Given the description of an element on the screen output the (x, y) to click on. 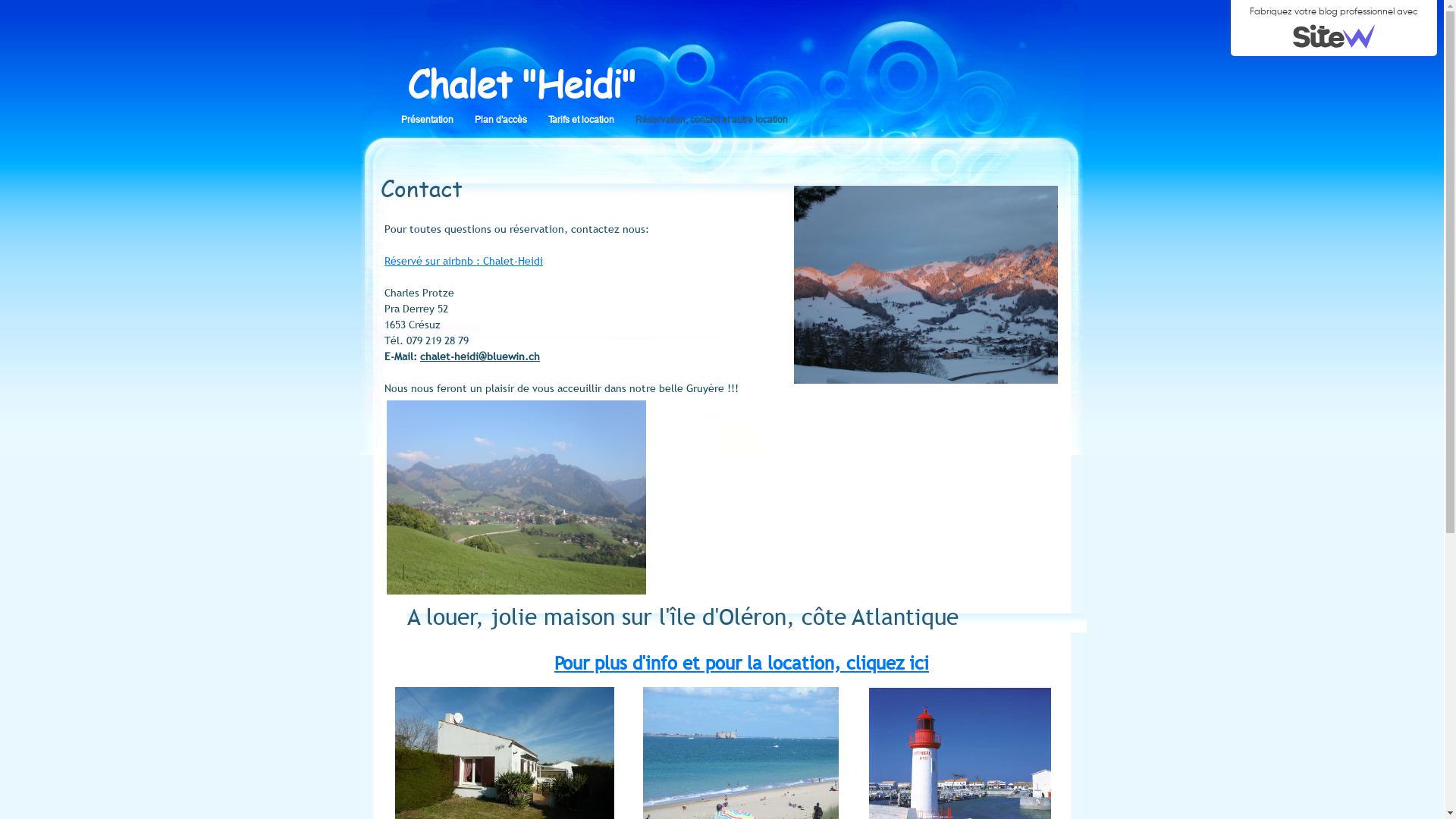
Tarifs et location Element type: text (591, 119)
Pour plus d'info et pour la location, cliquez ici Element type: text (741, 663)
